Given the description of an element on the screen output the (x, y) to click on. 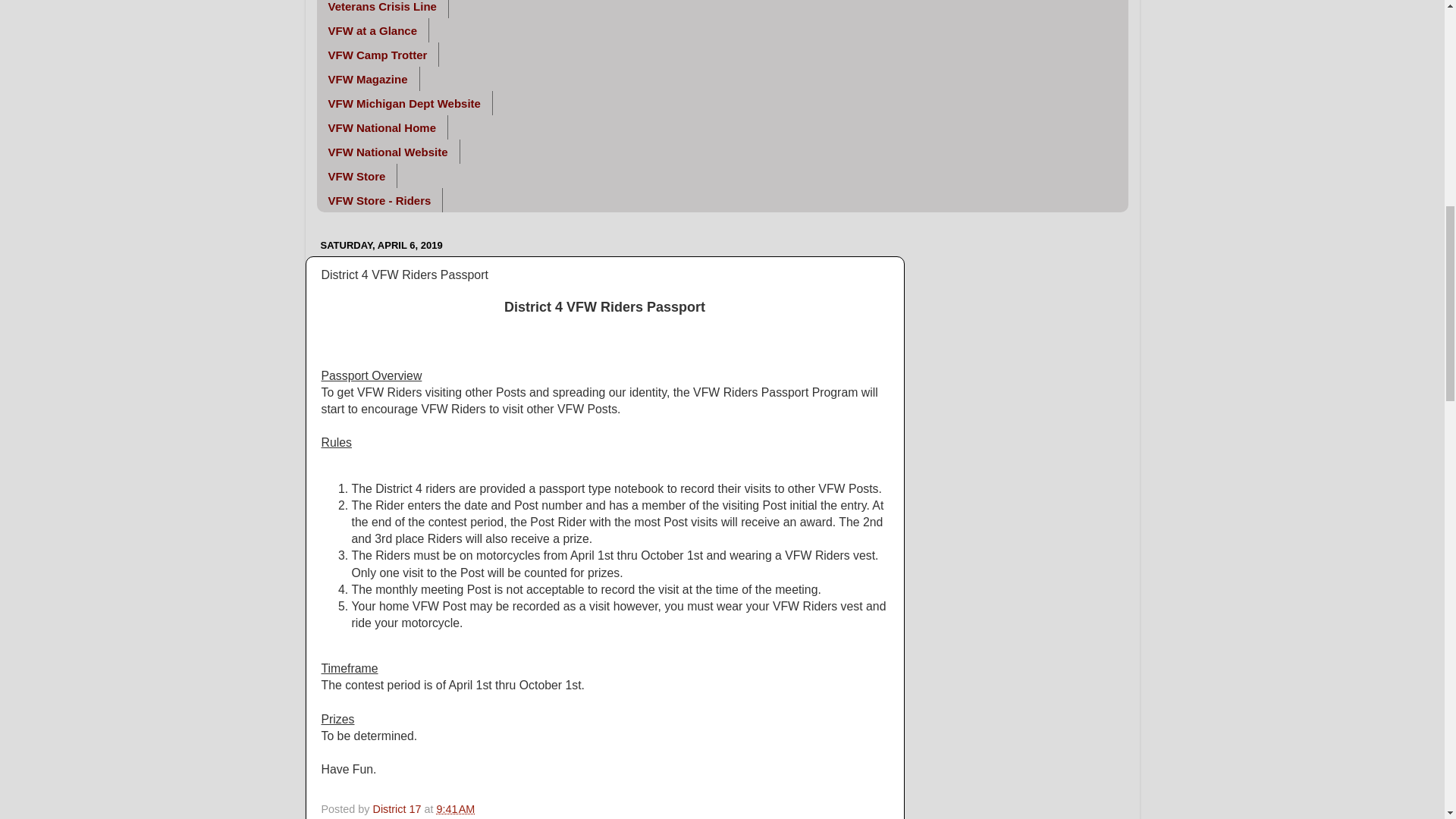
author profile (398, 808)
VFW Store - Riders (380, 200)
VFW Store (357, 175)
VFW at a Glance (373, 30)
Veterans Crisis Line (382, 9)
VFW Michigan Dept Website (405, 102)
VFW National Home (382, 127)
District 17 (398, 808)
permanent link (454, 808)
VFW National Website (388, 151)
VFW Camp Trotter (378, 54)
VFW Magazine (368, 78)
